Given the description of an element on the screen output the (x, y) to click on. 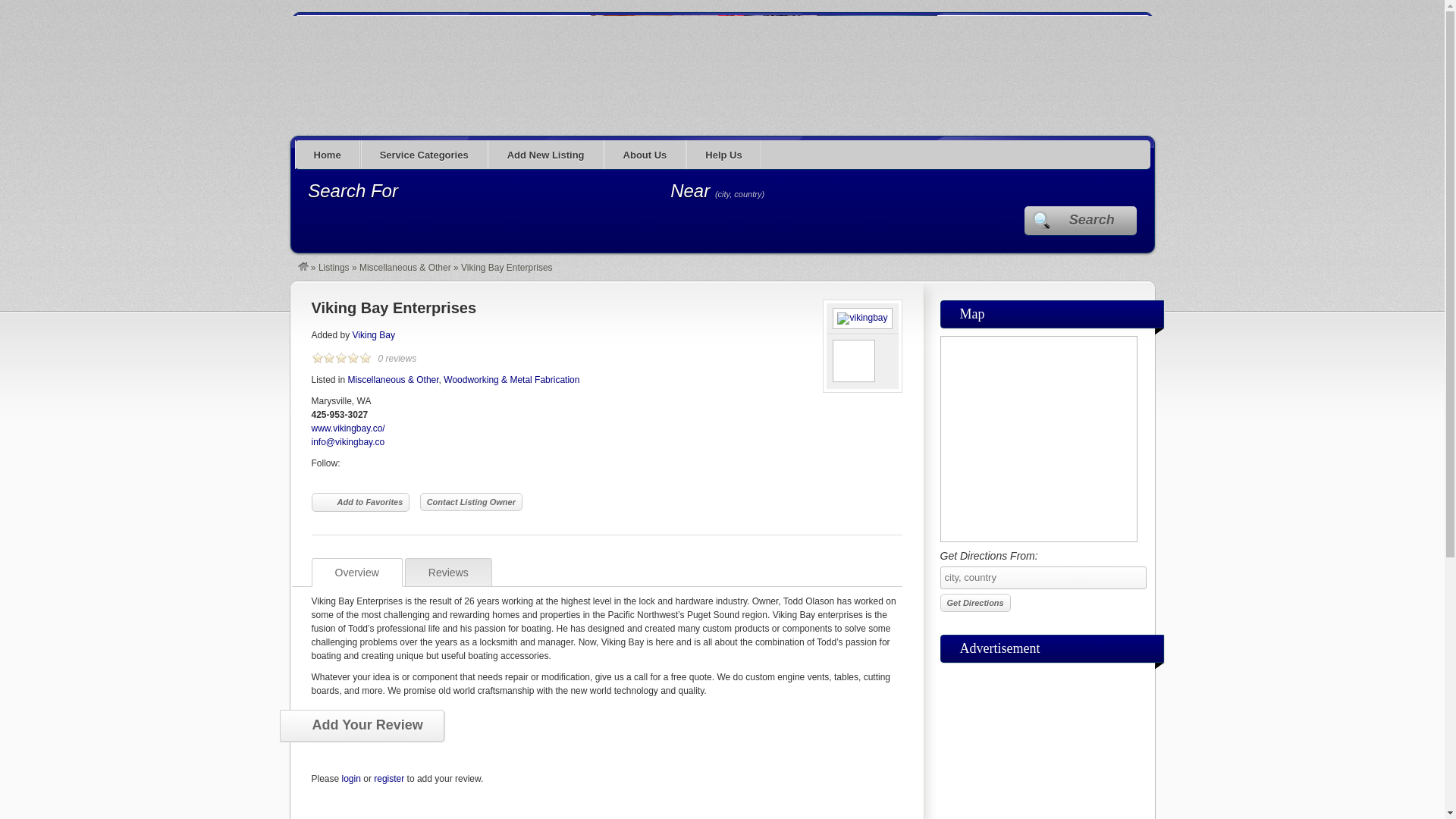
Home (327, 154)
Search (1081, 220)
About Us (645, 154)
Help Us (723, 154)
Viking Bay (373, 335)
Service Categories (424, 154)
Add New Listing (546, 154)
Listings (333, 267)
Viking Bay Enterprises (393, 307)
Get Directions (975, 602)
